Given the description of an element on the screen output the (x, y) to click on. 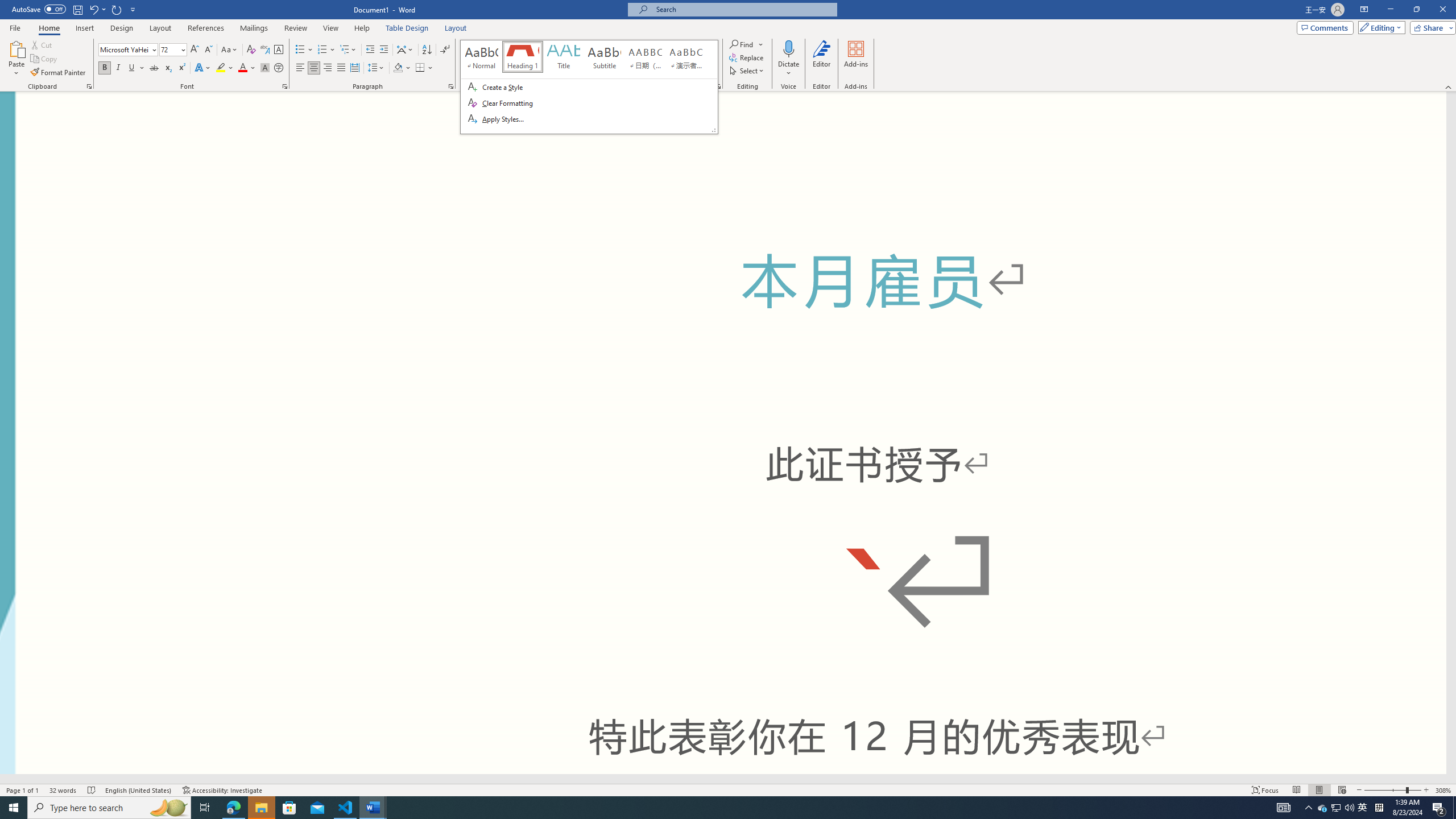
Word - 2 running windows (373, 807)
Class: NetUIScrollBar (722, 778)
Center (313, 67)
Start (13, 807)
Undo Grow Font (92, 9)
Phonetic Guide... (264, 49)
Enclose Characters... (278, 67)
